Given the description of an element on the screen output the (x, y) to click on. 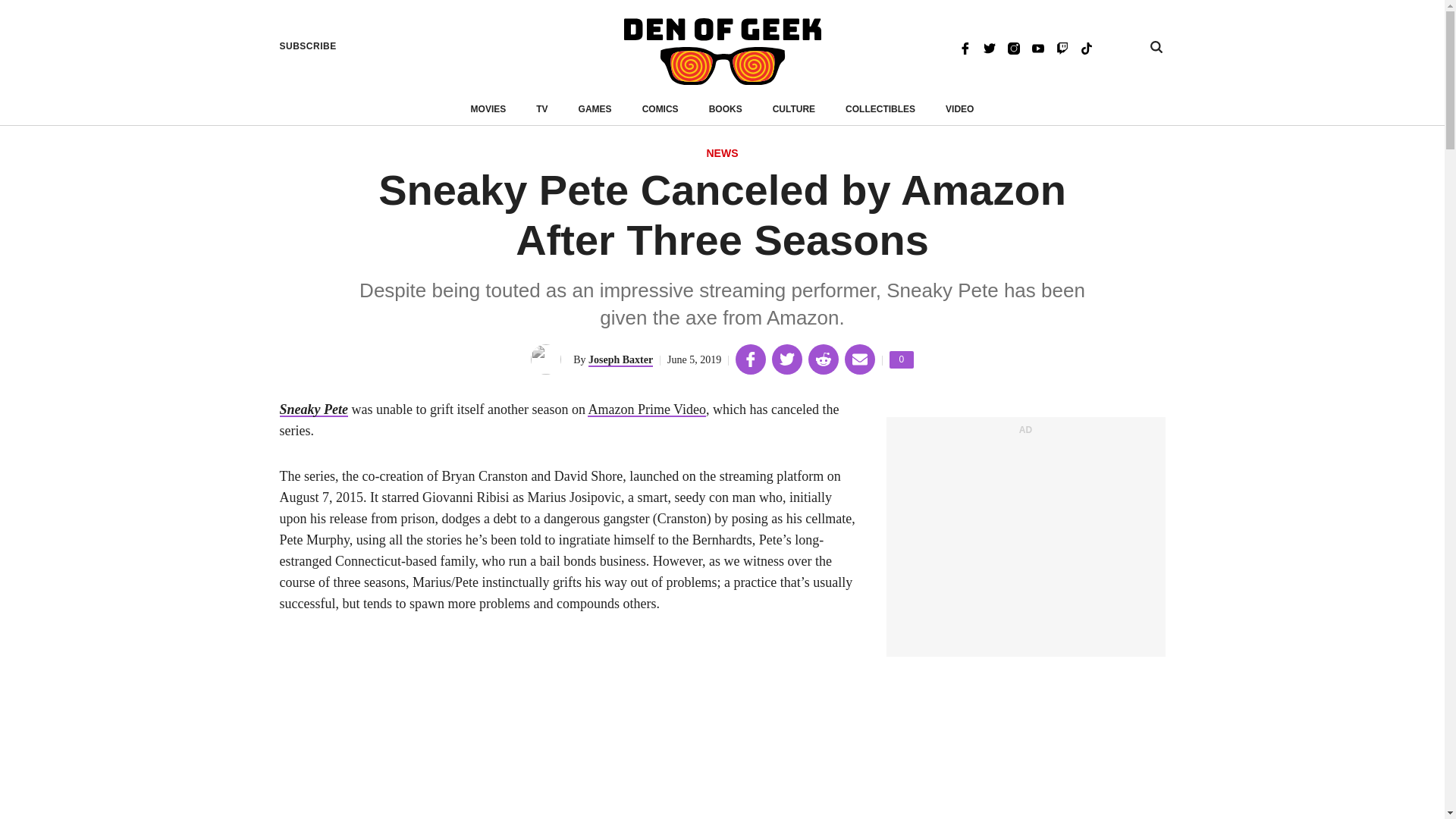
COLLECTIBLES (880, 109)
Twitter (988, 46)
Amazon Prime Video (647, 409)
COMICS (660, 109)
VIDEO (959, 109)
Amazon Prime Video News on Den of Geek (647, 409)
GAMES (594, 109)
Joseph Baxter (620, 359)
SUBSCRIBE (307, 46)
Den of Geek (722, 52)
